Given the description of an element on the screen output the (x, y) to click on. 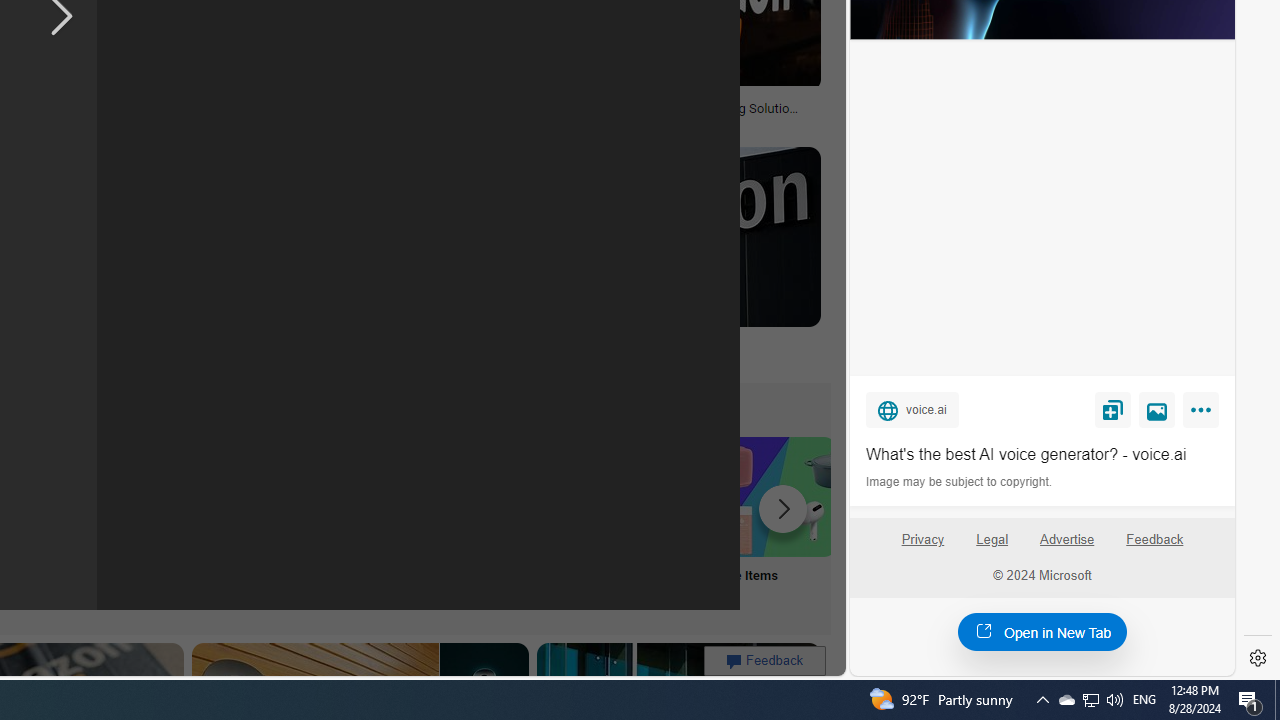
Amazon Prime Shopping Online (380, 496)
vecteezy.com (371, 123)
protothema.gr (554, 358)
Amazon Prime Shopping Online Prime Shopping Online (380, 521)
Image may be subject to copyright. (959, 481)
Amazon Sale Items (775, 496)
Visa Card Login (643, 521)
Privacy (922, 547)
Legal (991, 539)
Amazon Mini TV (116, 496)
Amazon Prime Label Prime Label (511, 521)
Advertise (1067, 547)
